Given the description of an element on the screen output the (x, y) to click on. 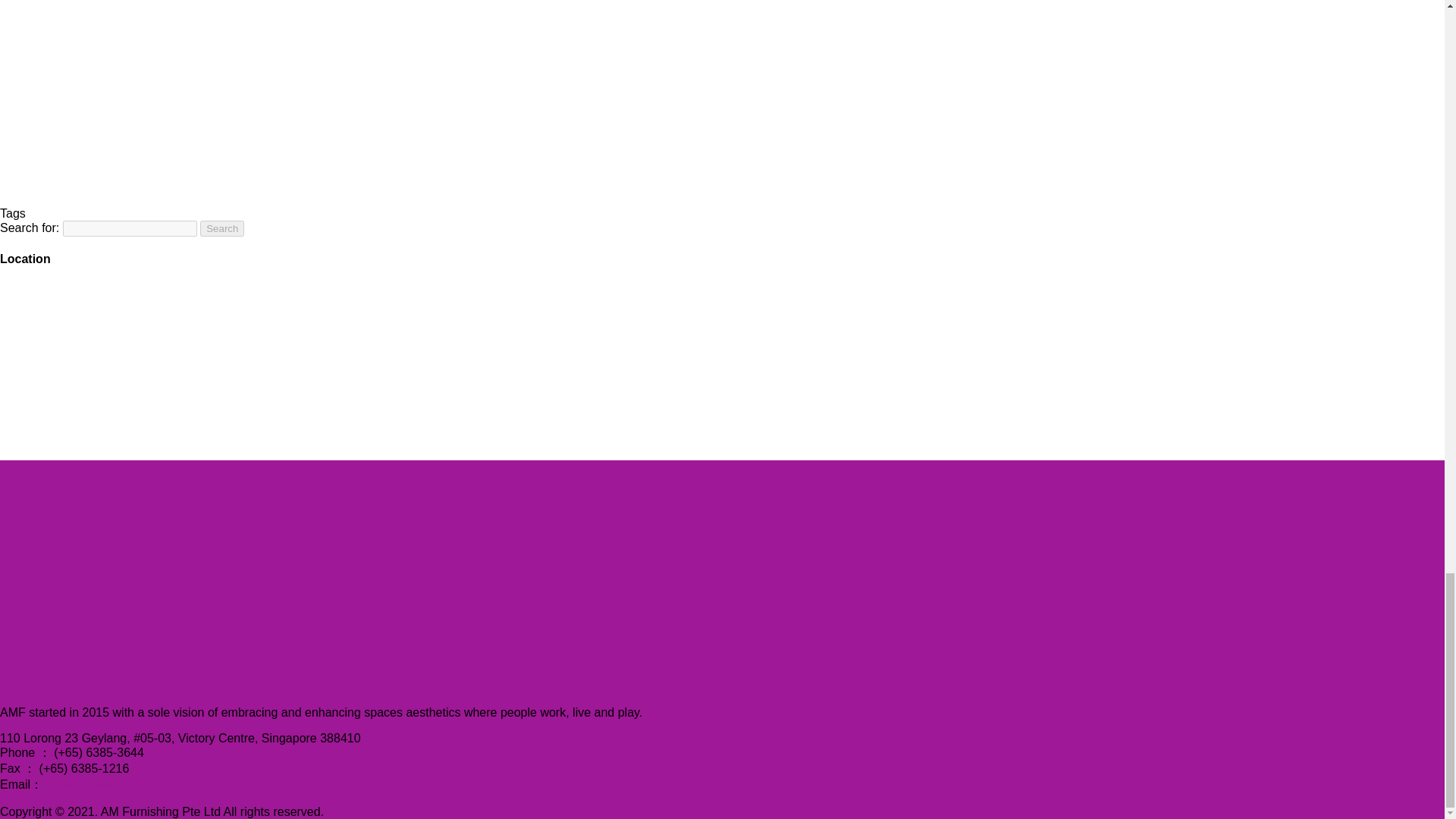
Redispersible Polymer Powder Rdp Powder (113, 134)
Search (222, 228)
Search (222, 228)
Redispersible Polymer Powder Rdp Powder (113, 31)
